Given the description of an element on the screen output the (x, y) to click on. 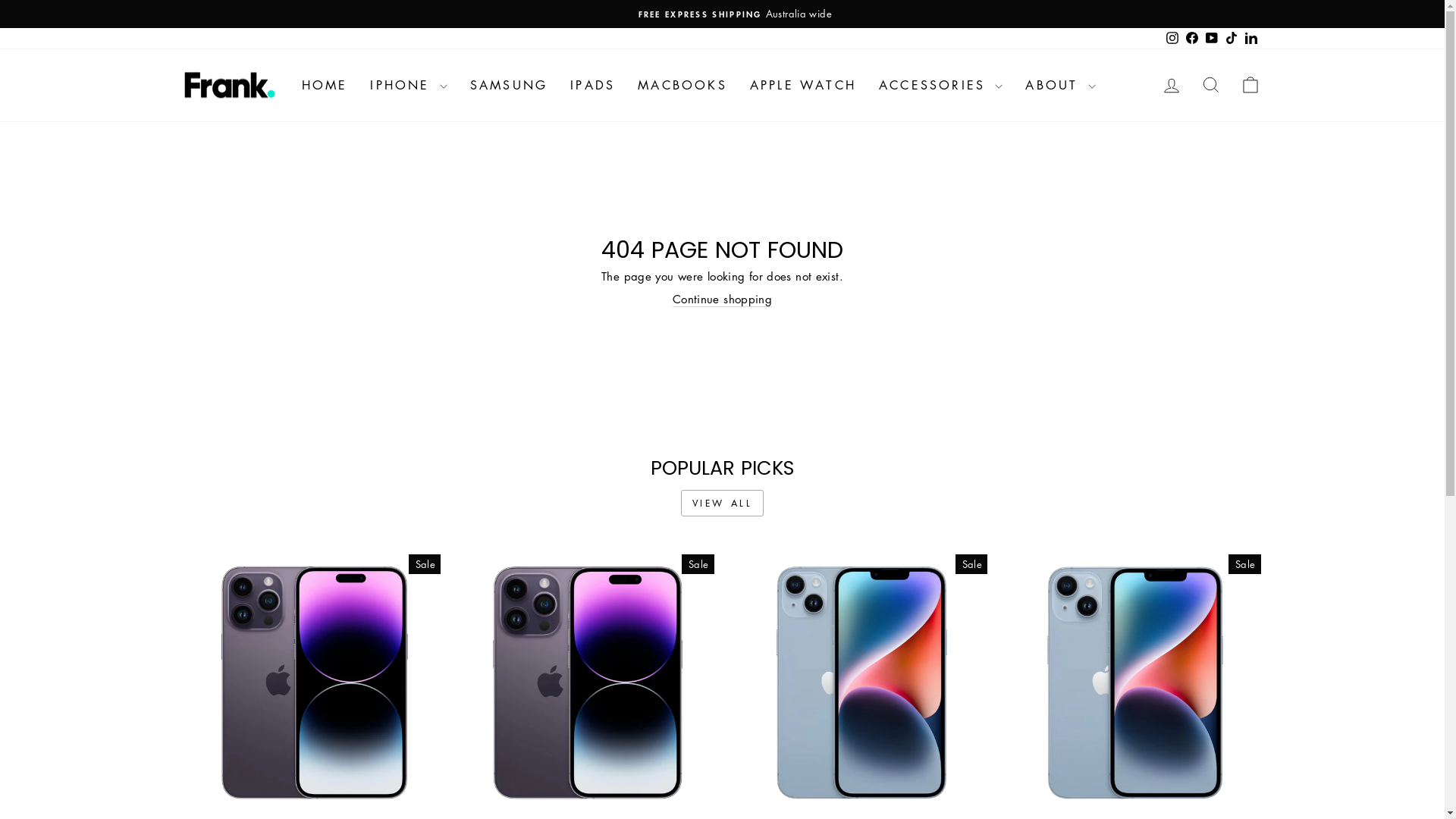
ACCOUNT
LOG IN Element type: text (1170, 85)
APPLE WATCH Element type: text (802, 84)
ICON-SEARCH
SEARCH Element type: text (1210, 85)
MACBOOKS Element type: text (682, 84)
instagram
Instagram Element type: text (1171, 38)
IPADS Element type: text (592, 84)
Continue shopping Element type: text (721, 299)
YouTube Element type: text (1210, 38)
Facebook Element type: text (1191, 38)
ICON-BAG-MINIMAL
CART Element type: text (1249, 85)
SAMSUNG Element type: text (508, 84)
VIEW ALL Element type: text (722, 502)
LinkedIn Element type: text (1250, 38)
HOME Element type: text (323, 84)
TikTok Element type: text (1230, 38)
